Given the description of an element on the screen output the (x, y) to click on. 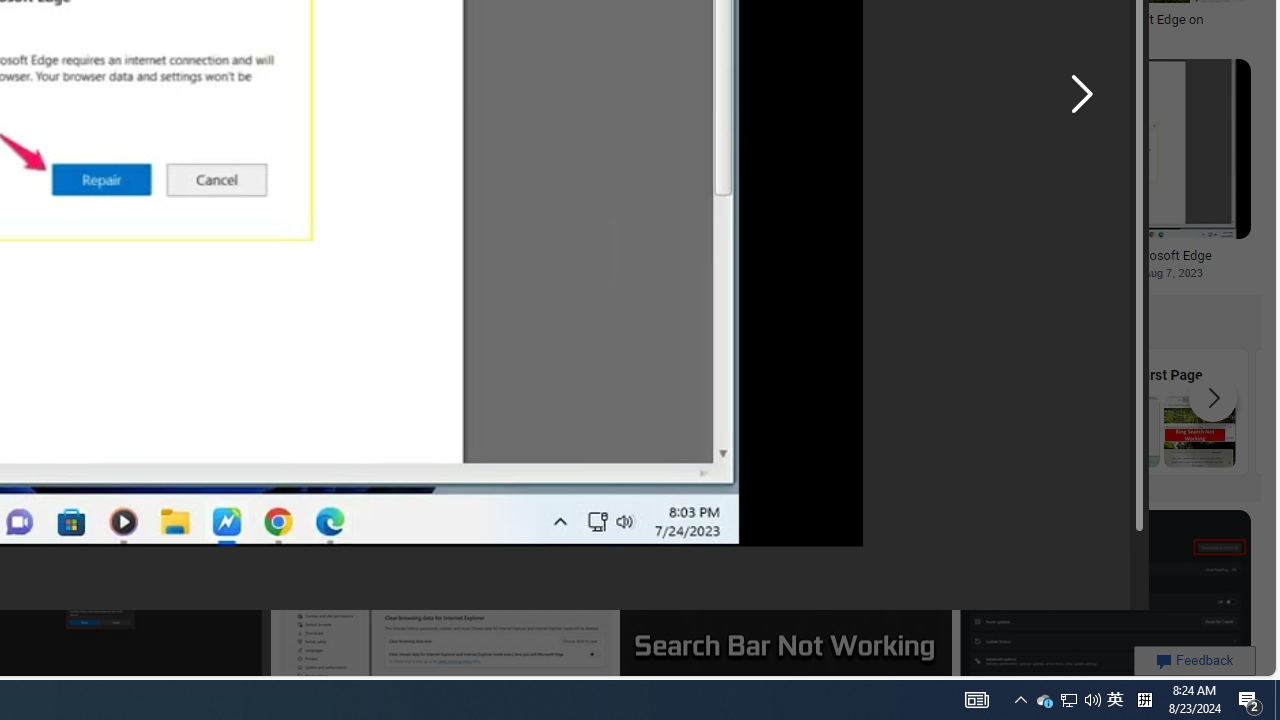
Bing Video Search Not Working (262, 431)
How to fix Bing search not working in Microsoft Edge? (509, 263)
Why First Page of Bing Search Not Working Why First Page (1162, 411)
Scroll more suggestions right (1213, 398)
Bing Exact Search Not Working (441, 431)
Why First Page of Bing Search Not Working (1162, 431)
How to fix Bing search not working in Microsoft Edge? (509, 263)
Fix Bing search not working in Microsoft Edge (1095, 255)
Bing Visual Search Not Working (81, 431)
Image result for Bing Search Not Working (1105, 602)
2:29 (972, 77)
Work (981, 411)
Bing Work Search Not Working Work (981, 411)
